Given the description of an element on the screen output the (x, y) to click on. 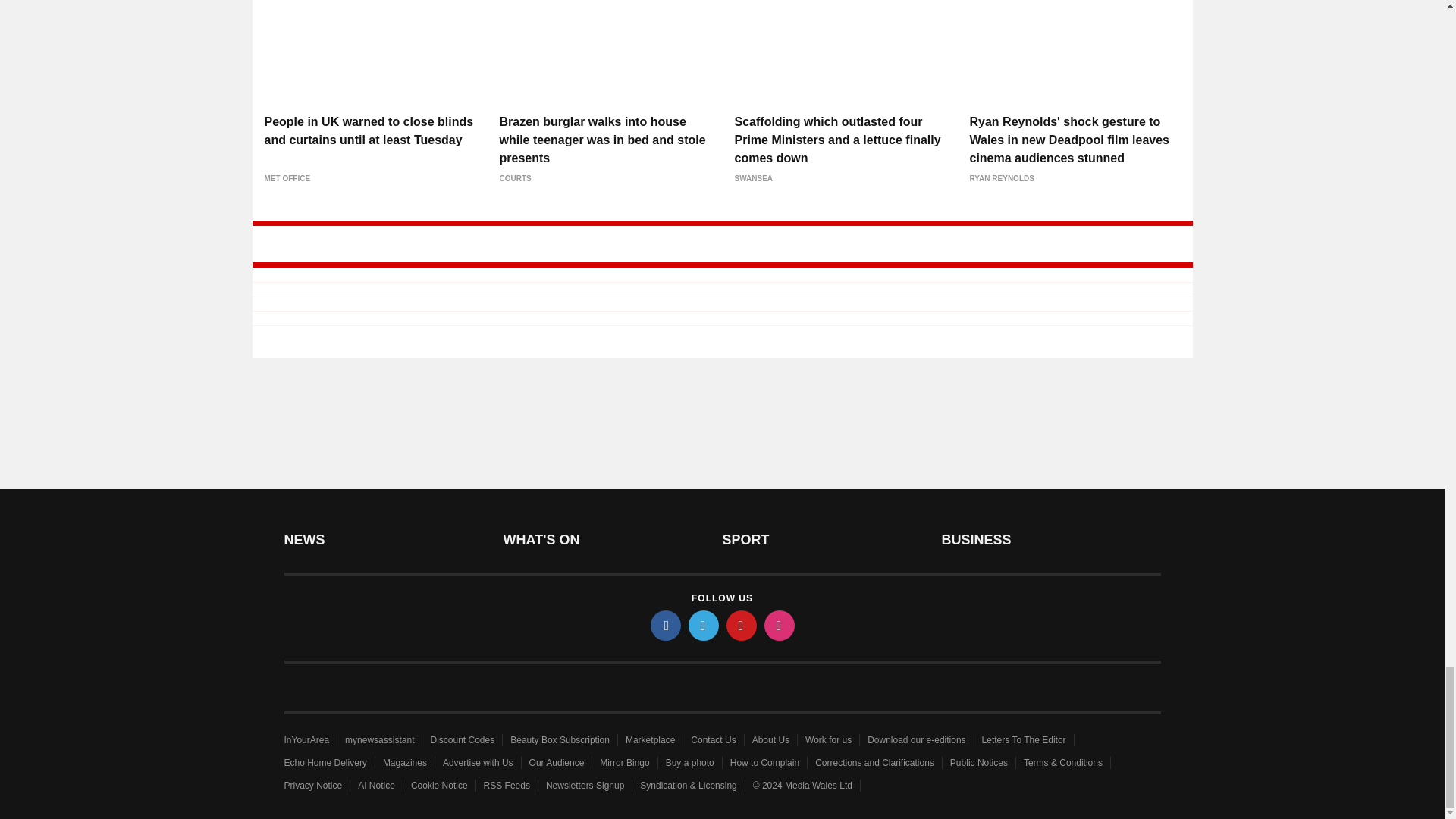
instagram (779, 625)
twitter (703, 625)
facebook (665, 625)
pinterest (741, 625)
